Given the description of an element on the screen output the (x, y) to click on. 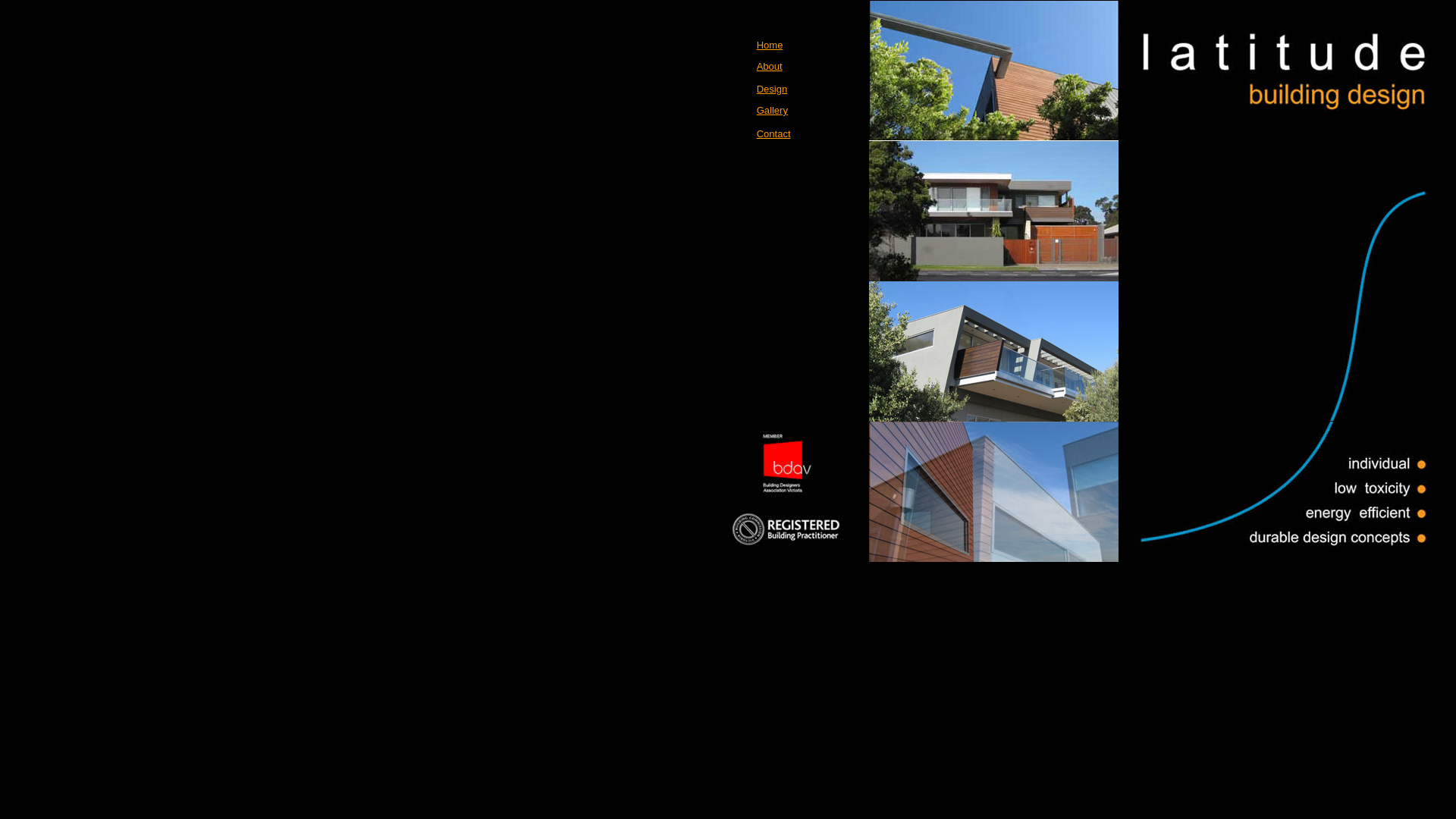
Gallery Element type: text (771, 110)
Home Element type: text (769, 44)
Contact Element type: text (773, 133)
About Element type: text (769, 66)
Design Element type: text (771, 88)
